Given the description of an element on the screen output the (x, y) to click on. 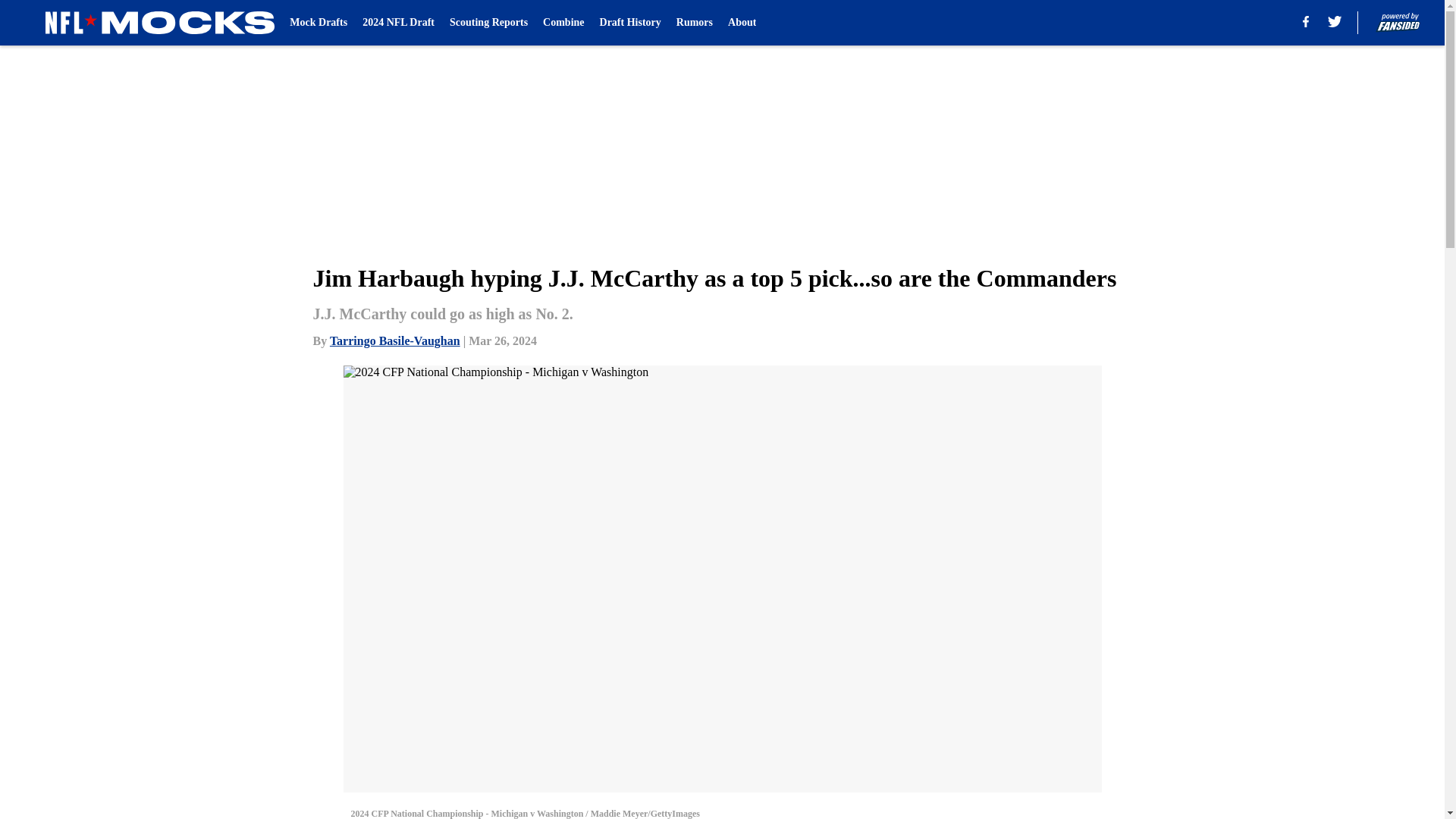
Tarringo Basile-Vaughan (395, 340)
Draft History (630, 22)
Rumors (695, 22)
Scouting Reports (488, 22)
Combine (563, 22)
About (741, 22)
Mock Drafts (318, 22)
2024 NFL Draft (397, 22)
